Given the description of an element on the screen output the (x, y) to click on. 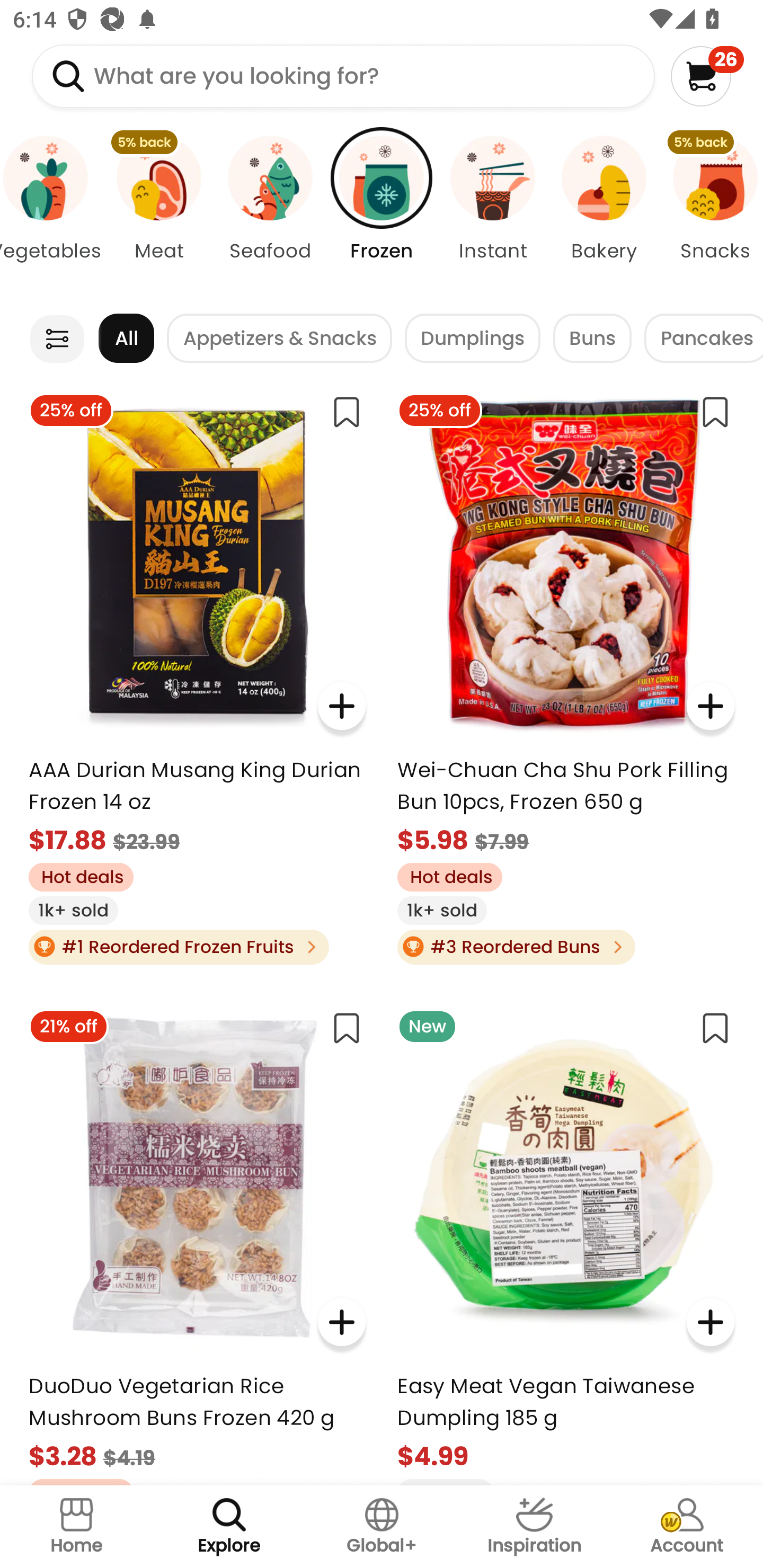
What are you looking for? (343, 75)
26 (706, 75)
Vegetables (51, 214)
5% back Meat (158, 214)
Seafood (269, 214)
Frozen (381, 214)
Instant (492, 214)
Bakery (603, 214)
5% back Snacks (711, 214)
All (126, 337)
Appetizers & Snacks (279, 337)
Dumplings (472, 337)
Buns (592, 337)
Pancakes (703, 337)
Home (76, 1526)
Explore (228, 1526)
Global+ (381, 1526)
Inspiration (533, 1526)
Account (686, 1526)
